Given the description of an element on the screen output the (x, y) to click on. 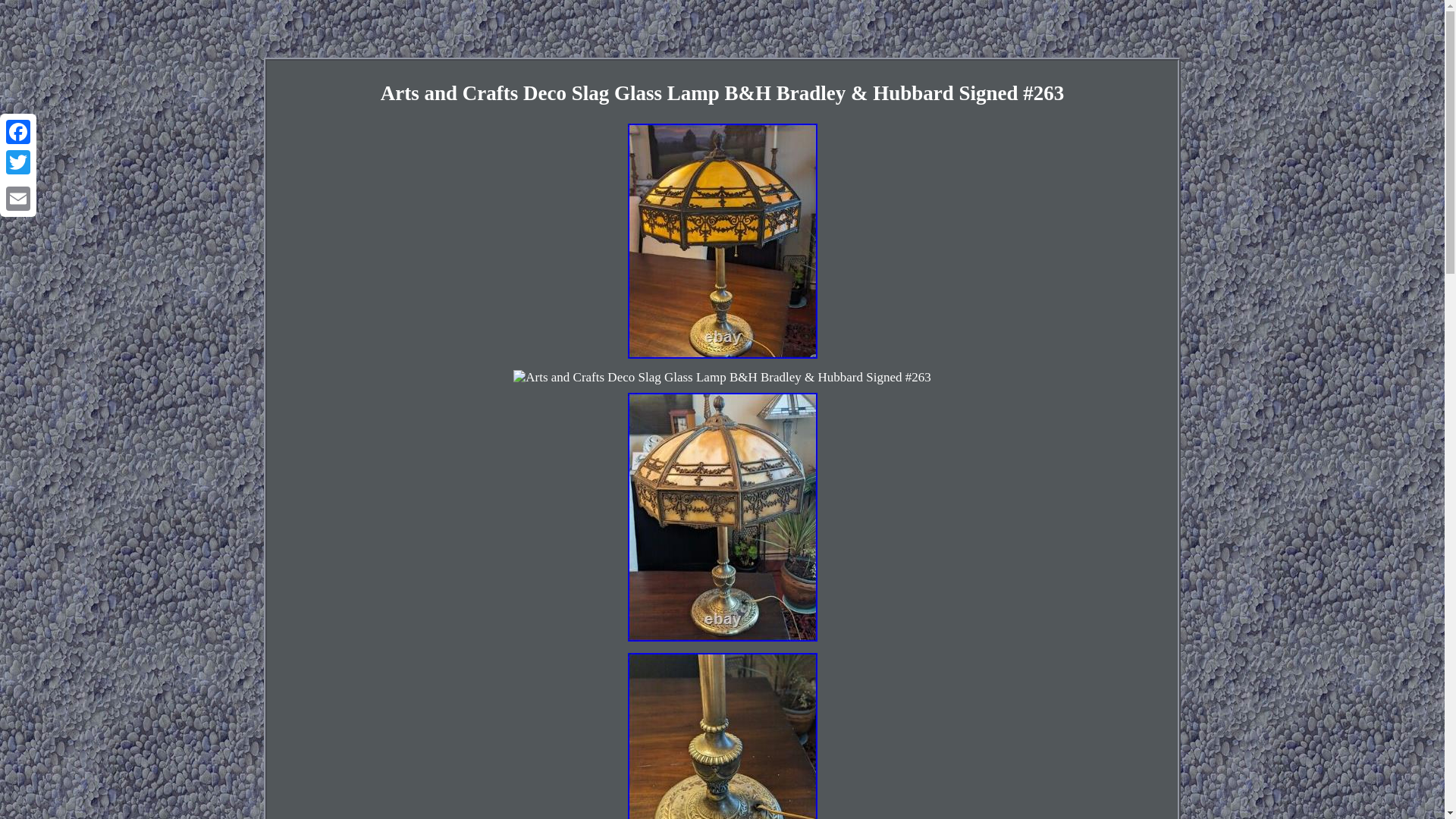
Twitter (17, 162)
Facebook (17, 132)
Email (17, 198)
